Given the description of an element on the screen output the (x, y) to click on. 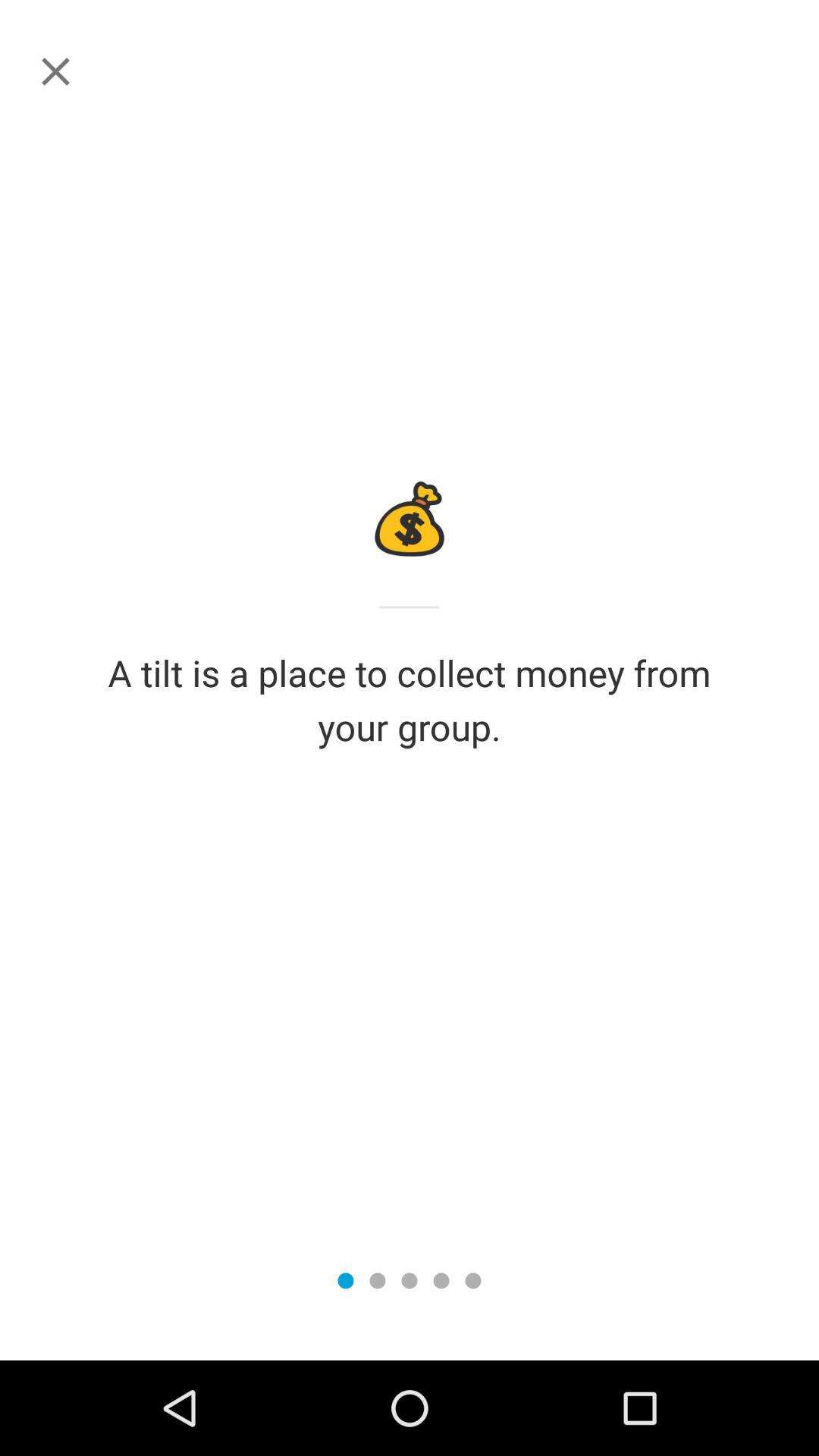
closes app (55, 71)
